Given the description of an element on the screen output the (x, y) to click on. 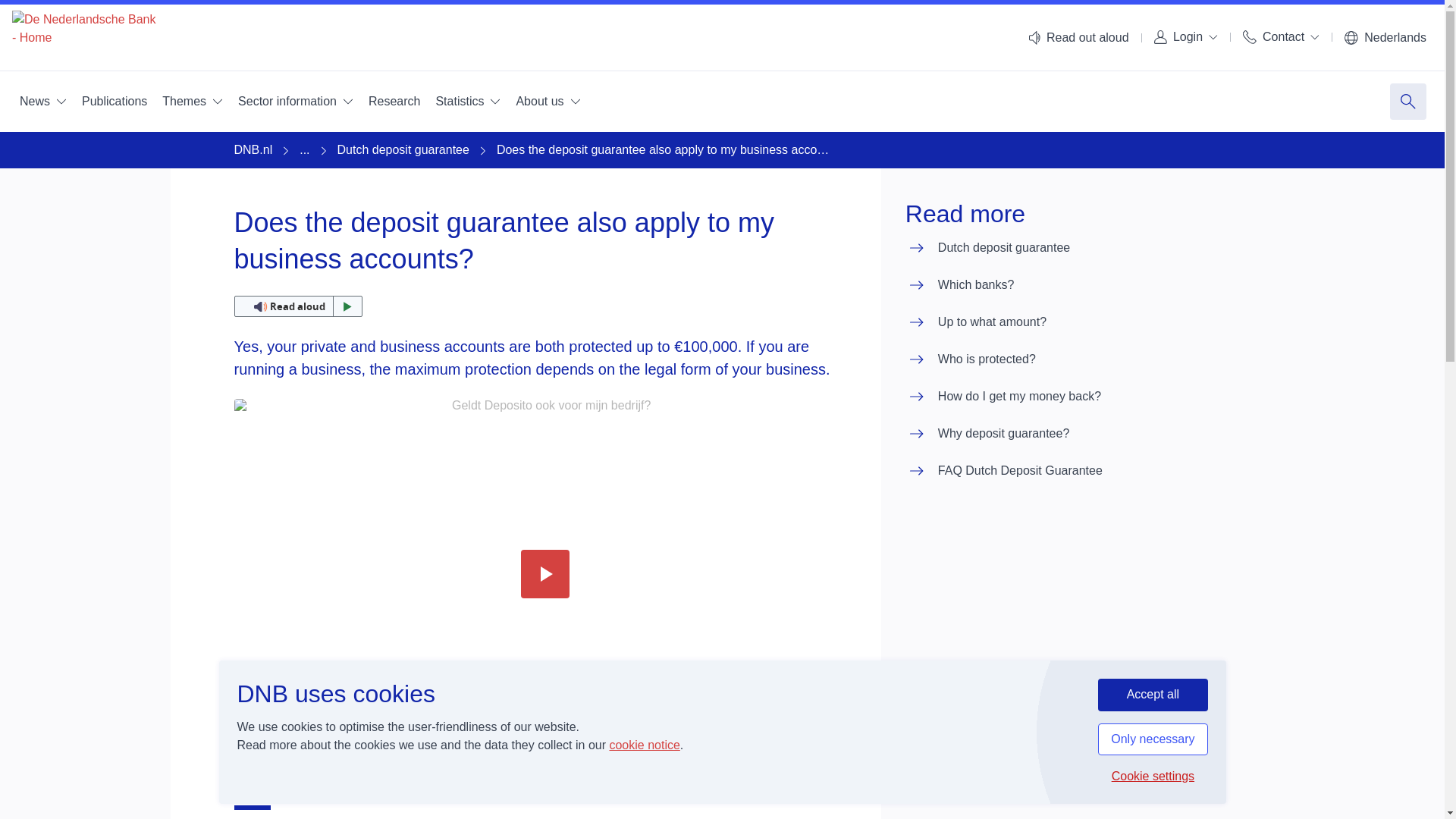
Read out aloud (296, 305)
De Nederlandsche Bank - Home (83, 37)
Which banks? (959, 285)
Contact (1280, 36)
Themes (191, 101)
Login (1186, 36)
Who is protected? (970, 359)
FAQ Dutch Deposit Guarantee (1004, 471)
Dutch deposit guarantee (987, 248)
